Given the description of an element on the screen output the (x, y) to click on. 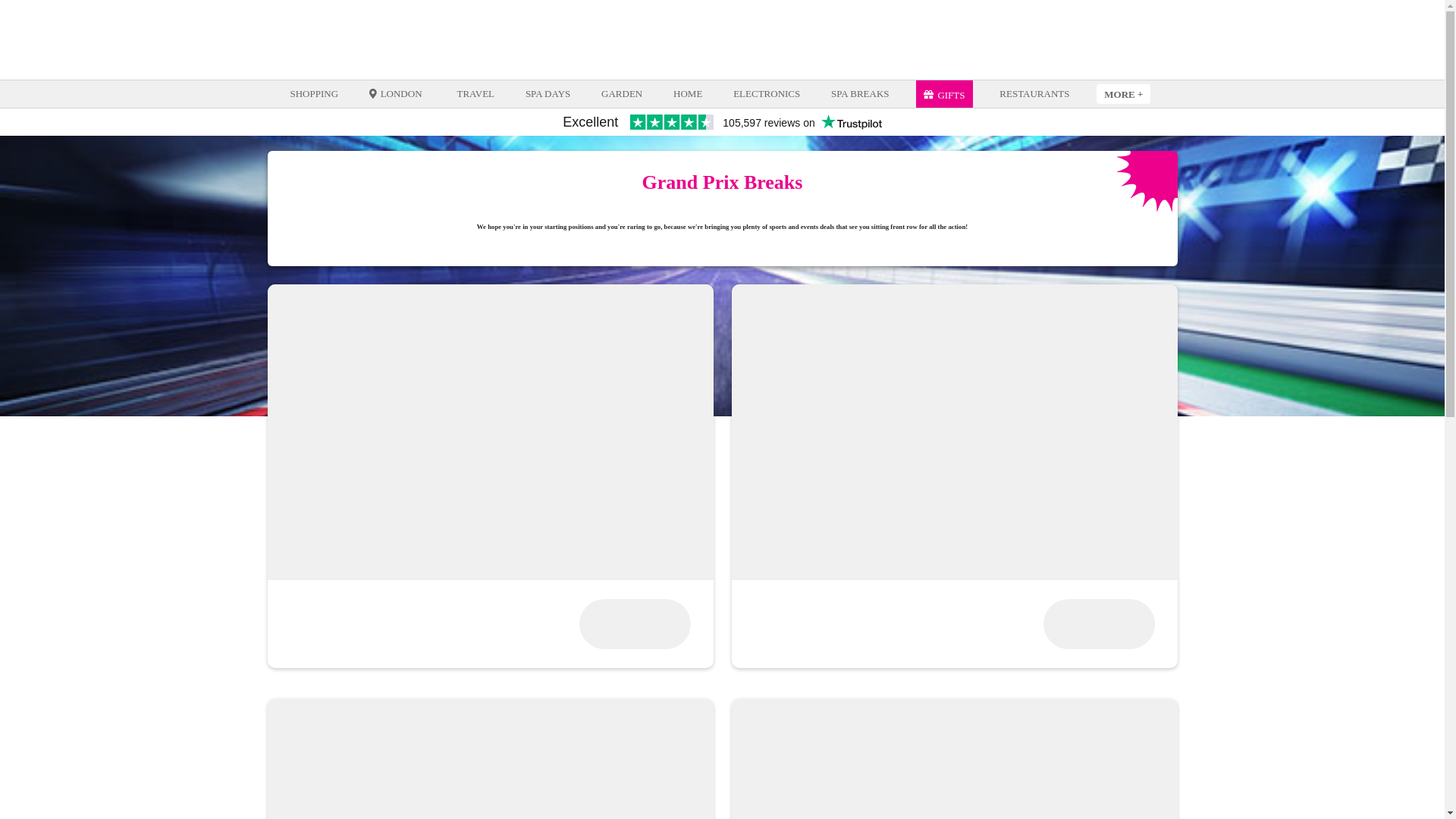
ELECTRONICS (766, 93)
HOME (687, 93)
TRAVEL (474, 93)
GIFTS (943, 94)
RESTAURANTS (1034, 93)
SPA DAYS (547, 93)
GARDEN (621, 93)
LONDON (397, 93)
SHOPPING (314, 93)
SPA BREAKS (859, 93)
